Given the description of an element on the screen output the (x, y) to click on. 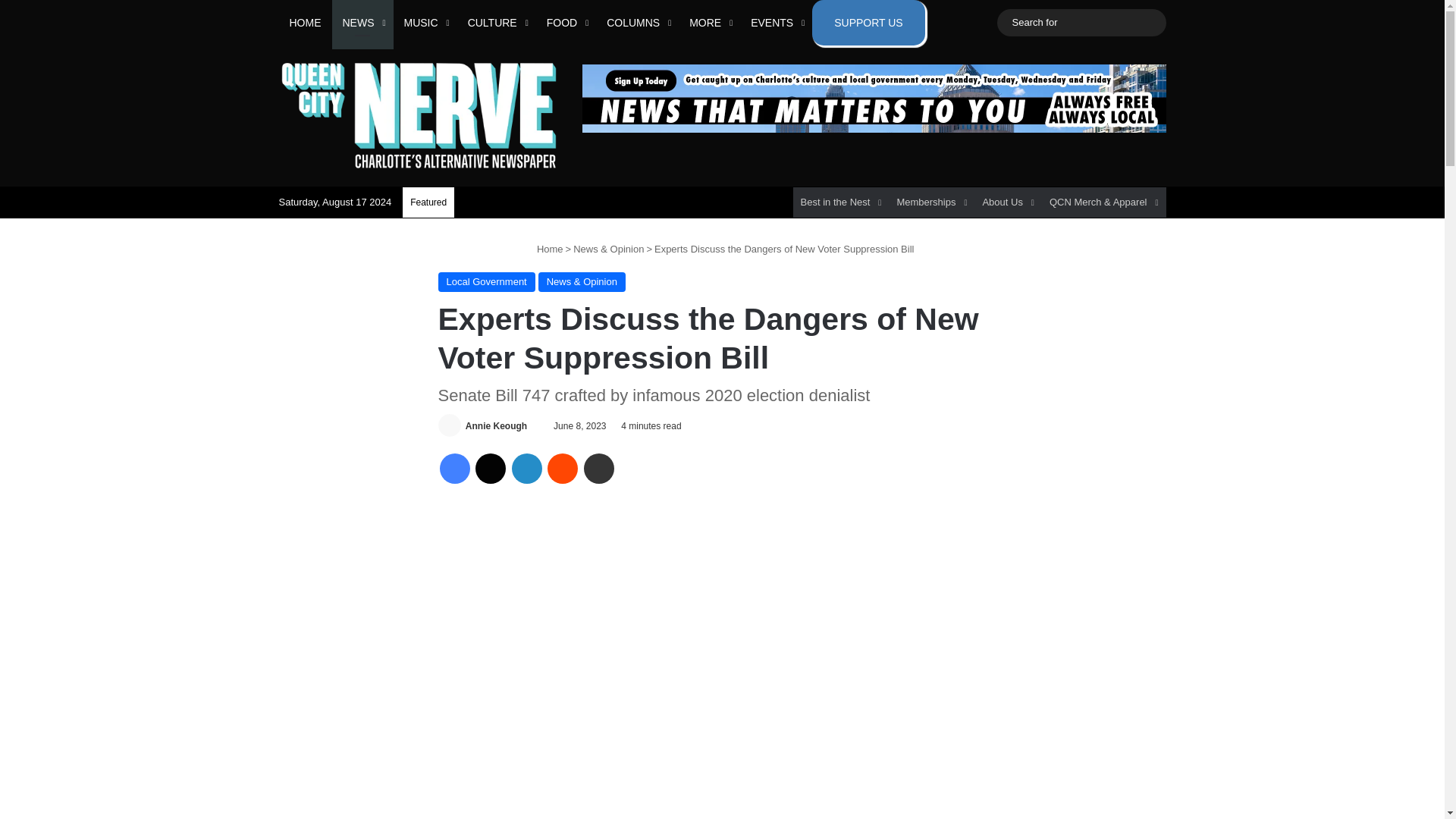
NEWS (362, 22)
LinkedIn (526, 468)
HOME (305, 22)
MUSIC (425, 22)
Queen City Nerve (419, 115)
Share via Email (598, 468)
CULTURE (496, 22)
COLUMNS (636, 22)
Annie Keough (496, 425)
Search for (1080, 22)
